Given the description of an element on the screen output the (x, y) to click on. 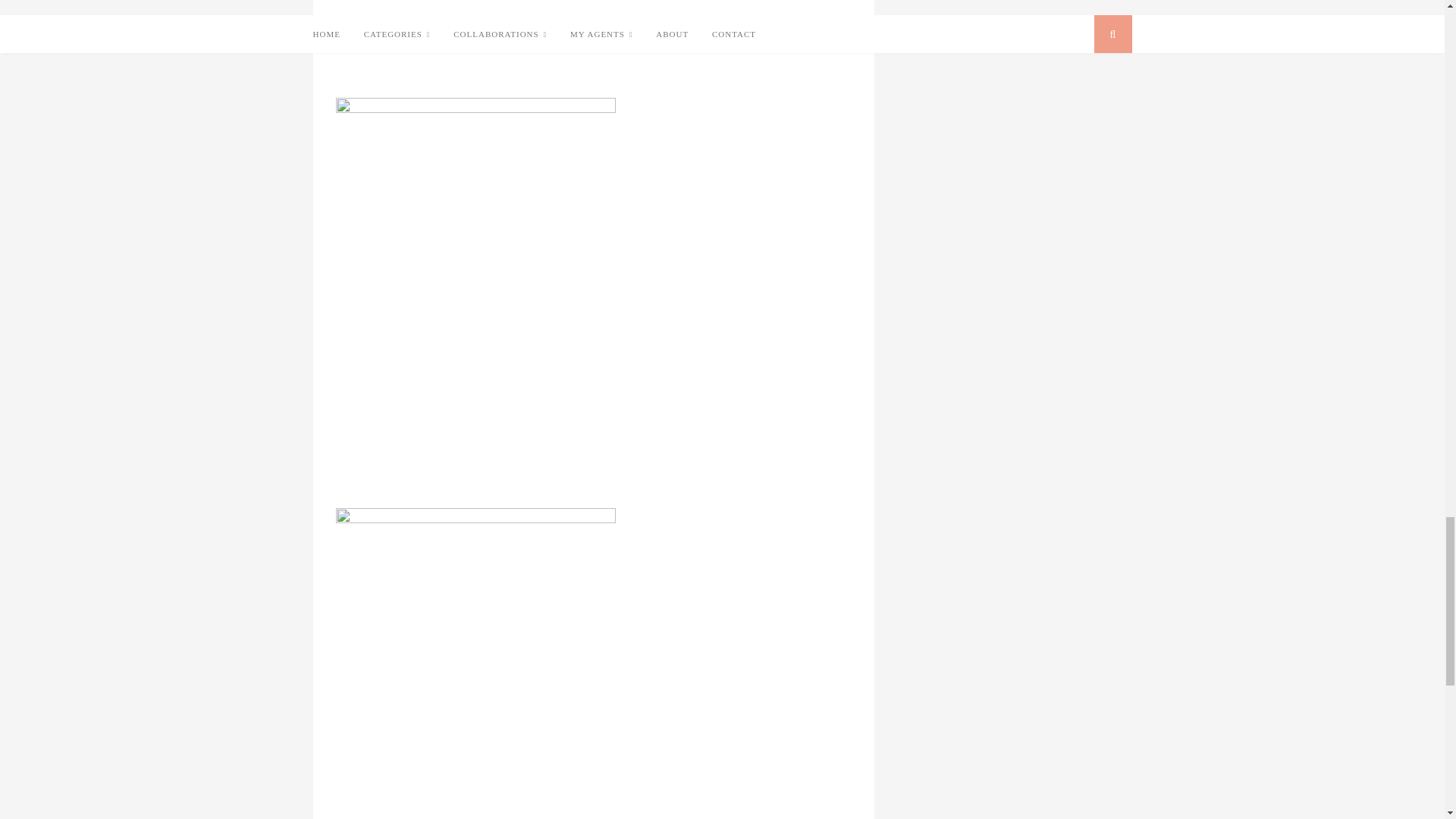
w8 (474, 292)
w9 (474, 663)
w7 (474, 39)
